Given the description of an element on the screen output the (x, y) to click on. 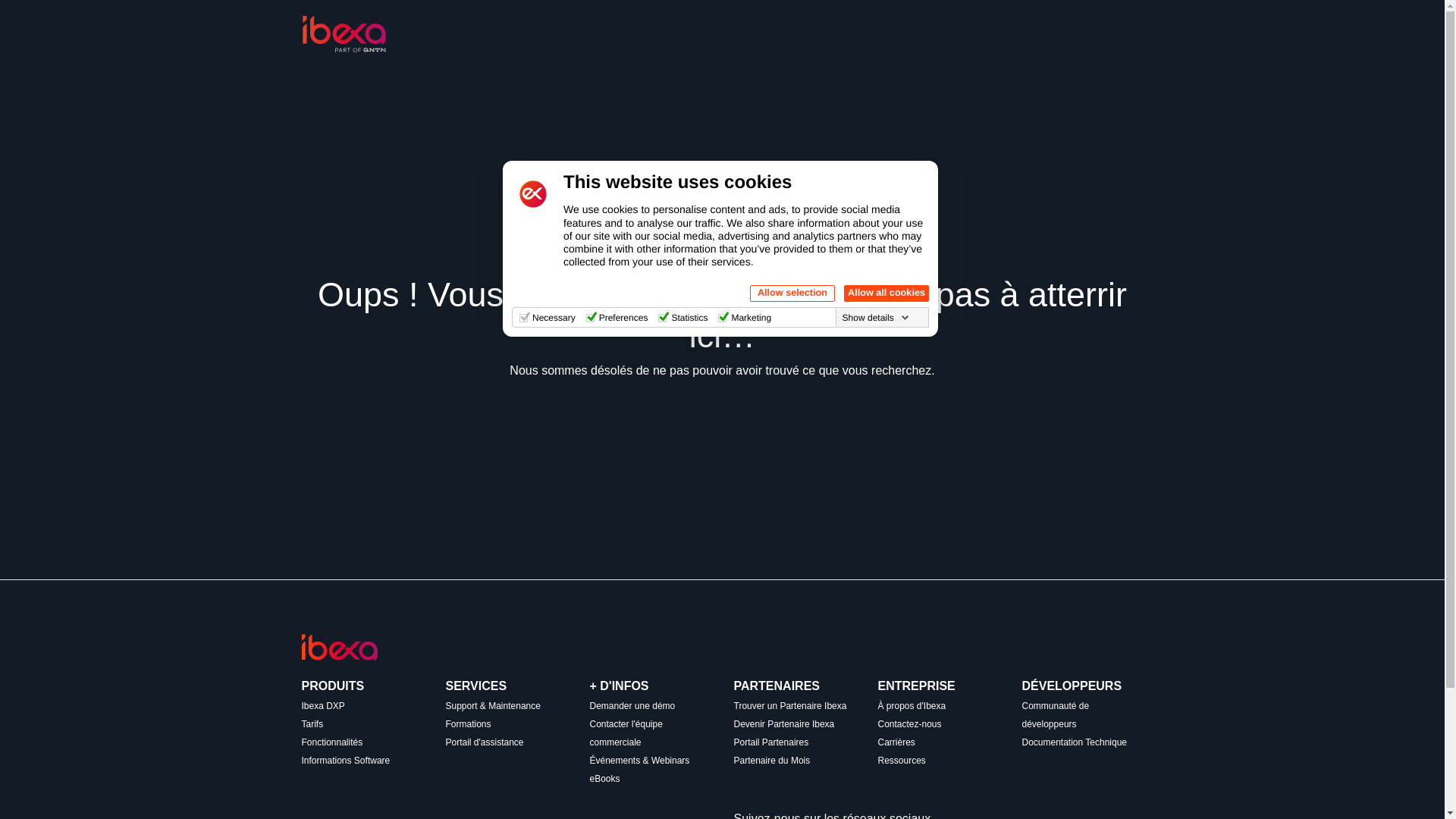
Show details (876, 317)
Allow all cookies (886, 293)
Allow selection (791, 293)
